Given the description of an element on the screen output the (x, y) to click on. 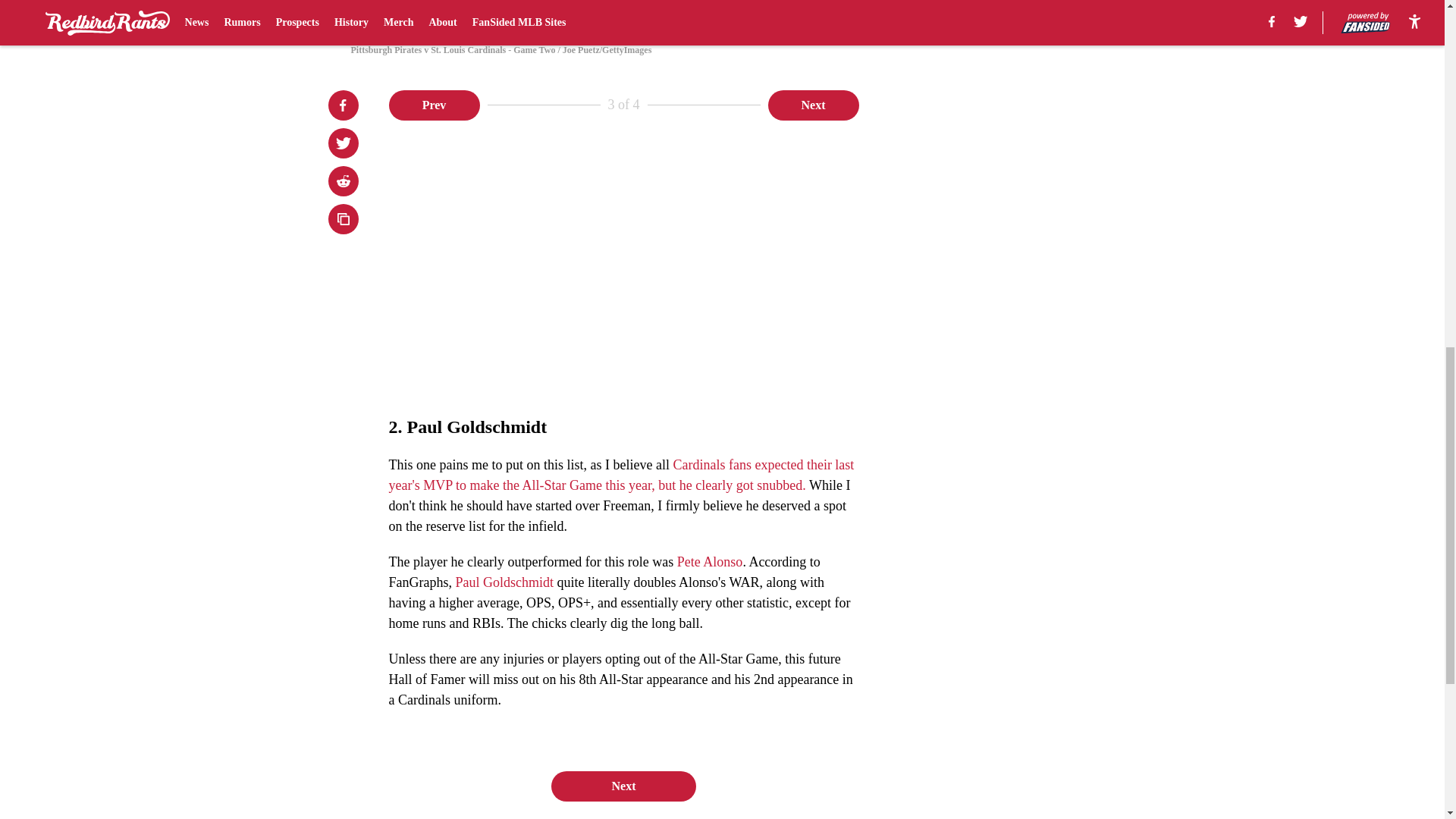
Pittsburgh Pirates v St. Louis Cardinals - Game Two (721, 14)
Paul Goldschmidt (503, 581)
Prev (433, 104)
Next (813, 104)
Pete Alonso (709, 561)
Next (622, 786)
